Given the description of an element on the screen output the (x, y) to click on. 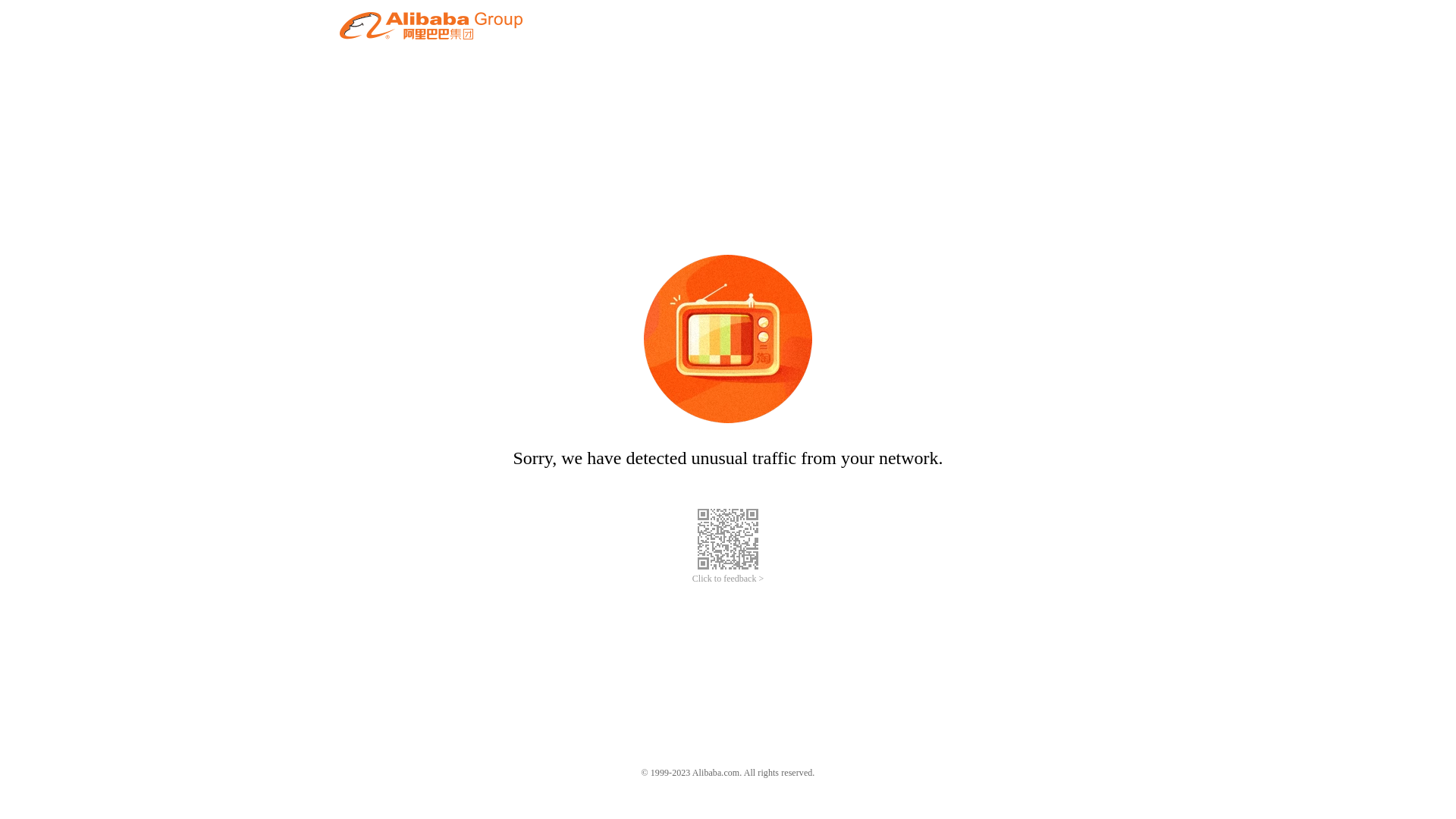
Click to feedback > Element type: text (727, 578)
